Given the description of an element on the screen output the (x, y) to click on. 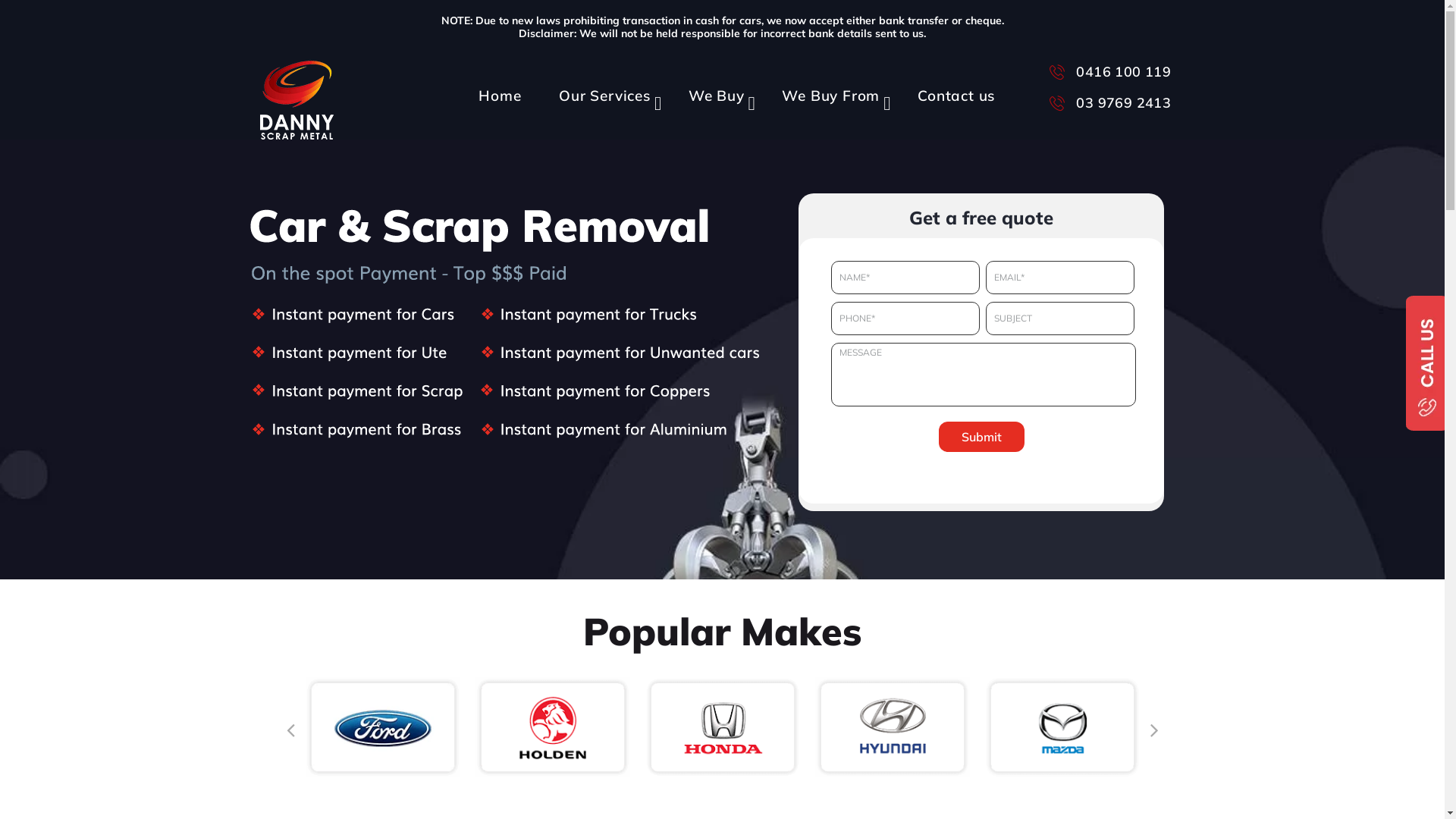
Our Services Element type: text (600, 87)
Submit Element type: text (981, 436)
0416 100 119 Element type: text (1107, 70)
Contact us Element type: text (952, 87)
03 9769 2413 Element type: text (1107, 101)
We Buy Element type: text (712, 87)
Home Element type: text (495, 87)
We Buy From Element type: text (827, 87)
